Given the description of an element on the screen output the (x, y) to click on. 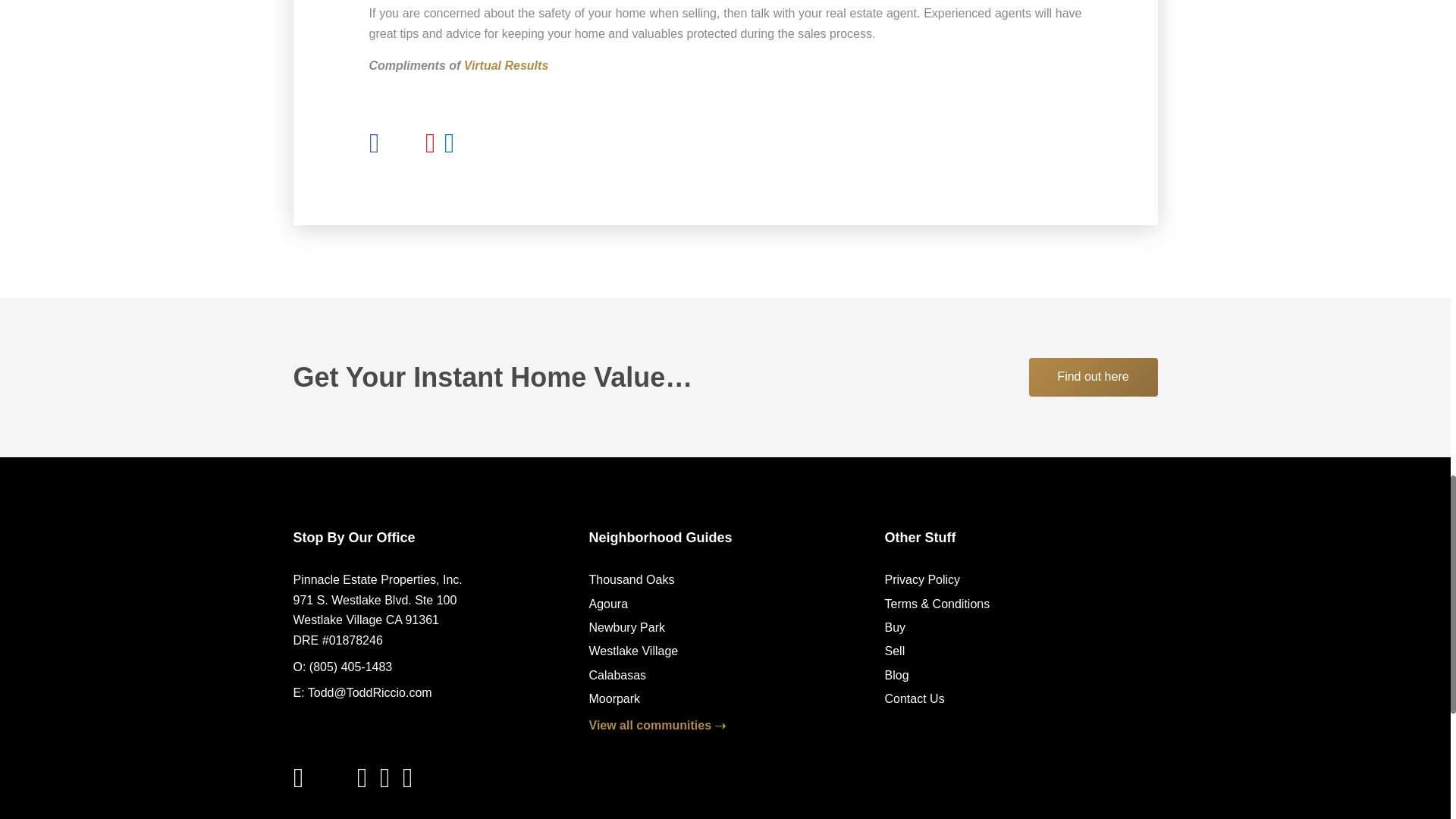
Virtual Results (506, 65)
Thousand Oaks (631, 579)
Agoura (607, 603)
Westlake Village (633, 650)
Newbury Park (625, 626)
Calabasas (617, 675)
Find out here (1092, 376)
